Given the description of an element on the screen output the (x, y) to click on. 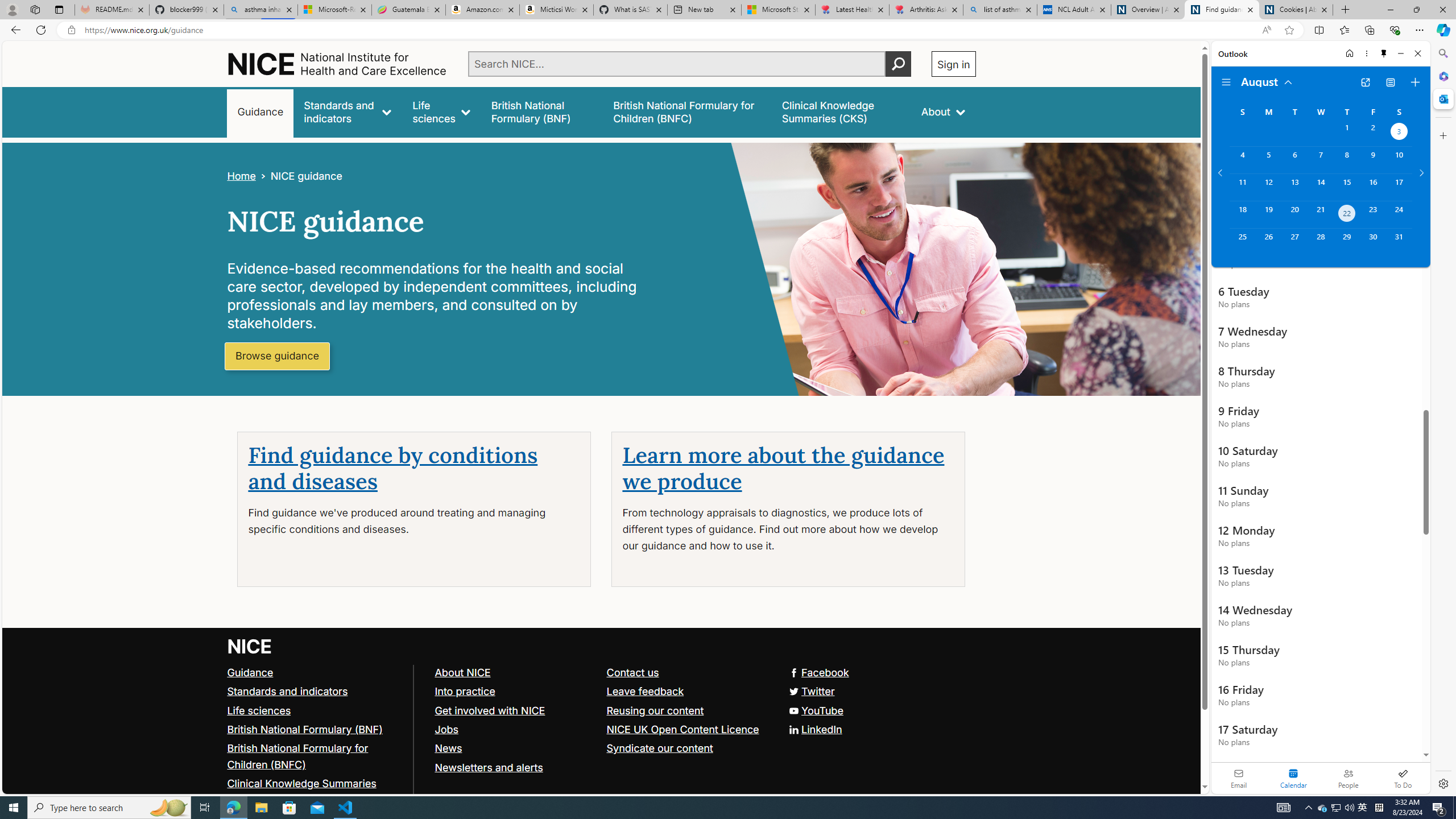
Open in new tab (1365, 82)
Sunday, August 4, 2024.  (1242, 159)
Into practice (464, 690)
Saturday, August 17, 2024.  (1399, 186)
Tuesday, August 20, 2024.  (1294, 214)
About NICE (461, 671)
About NICE (514, 672)
